Given the description of an element on the screen output the (x, y) to click on. 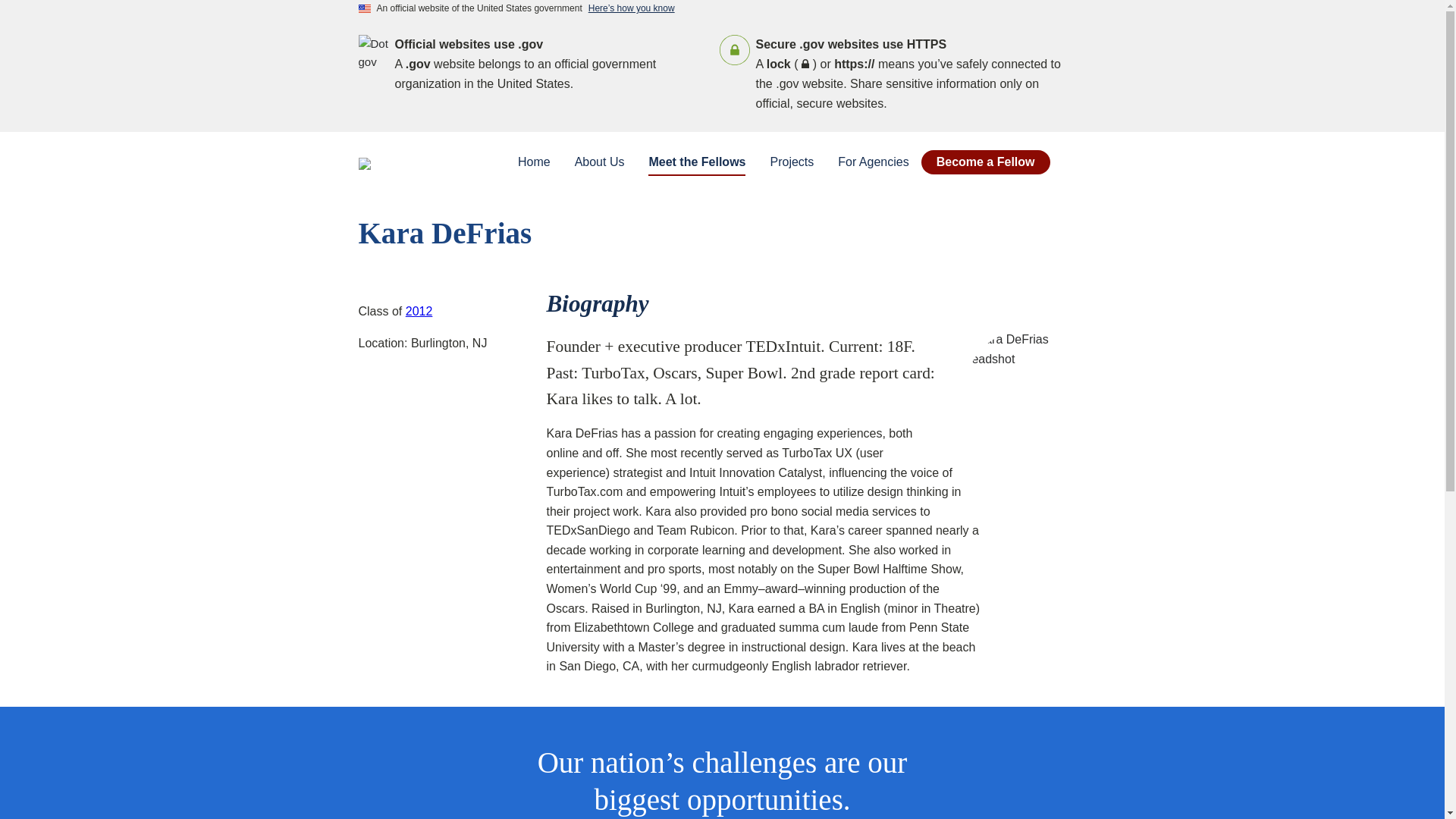
Home (422, 157)
Home (533, 162)
About Us (599, 162)
2012 (419, 310)
Become a Fellow (985, 161)
For Agencies (872, 162)
Projects (791, 162)
Meet the Fellows (696, 162)
search the site (1073, 161)
